Given the description of an element on the screen output the (x, y) to click on. 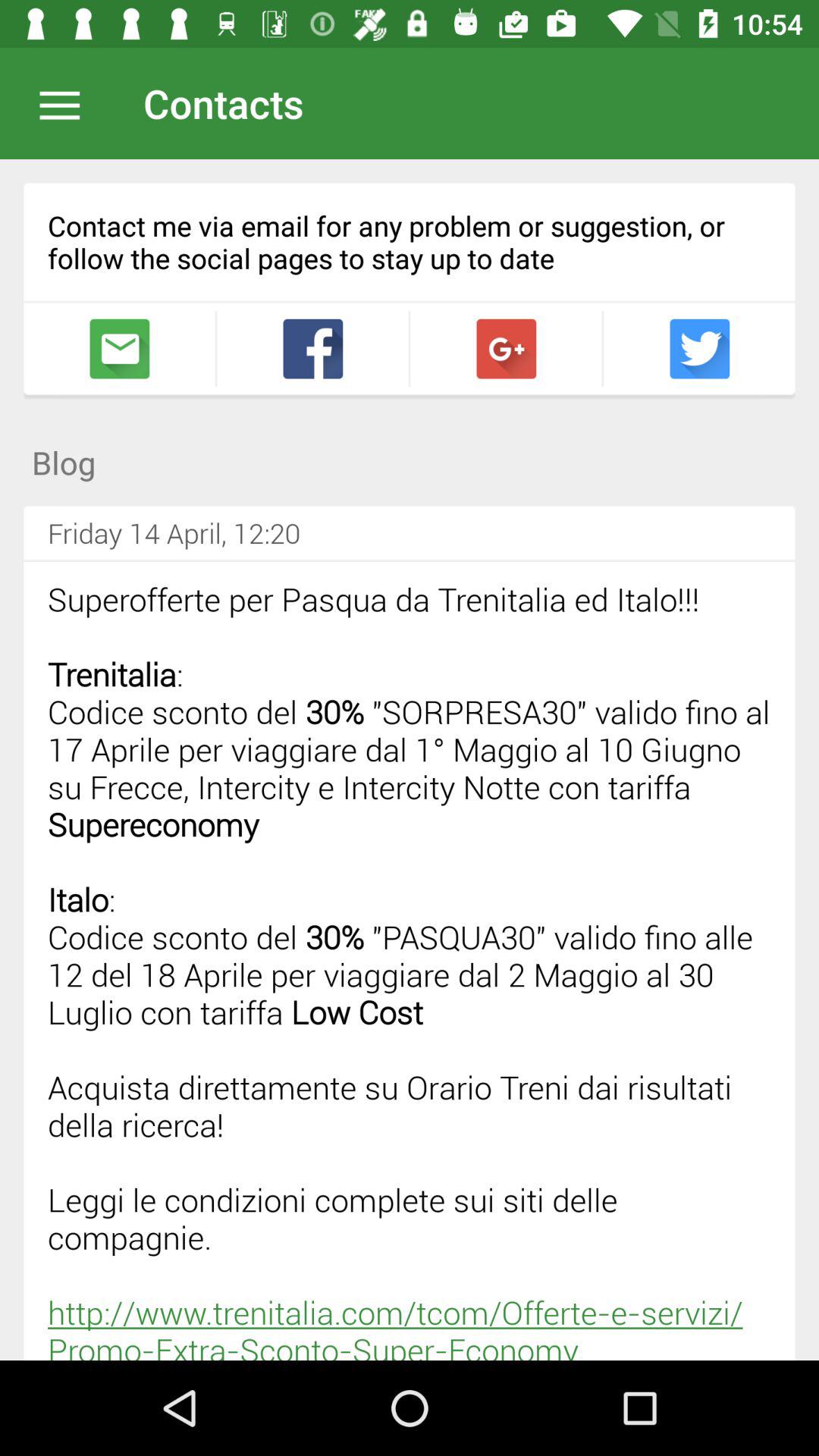
facebook (312, 348)
